Given the description of an element on the screen output the (x, y) to click on. 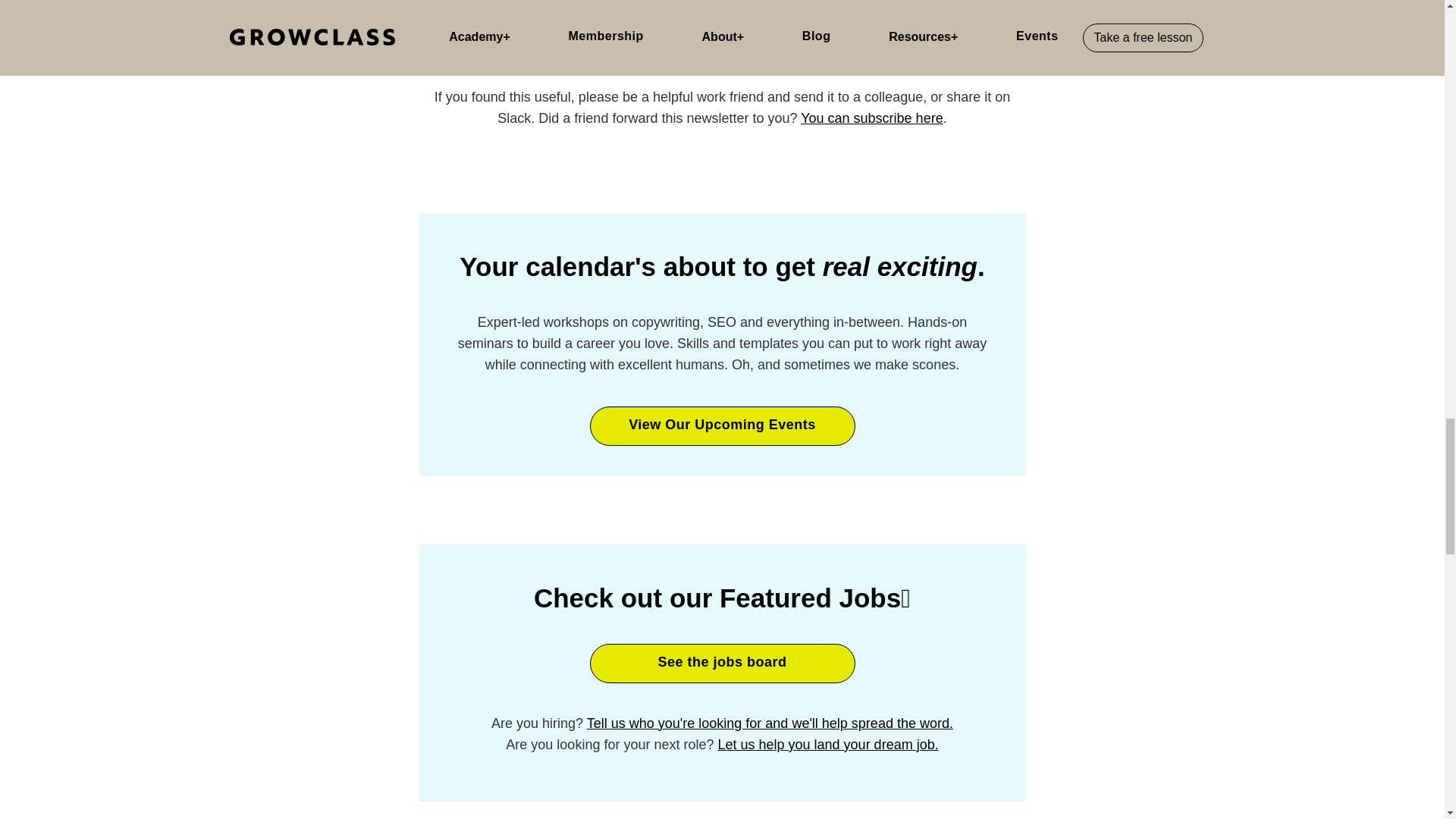
Let us help you land your dream job. (827, 744)
Source (440, 29)
See the jobs board (722, 663)
View Our Upcoming Events (722, 425)
You can subscribe here (871, 118)
